Given the description of an element on the screen output the (x, y) to click on. 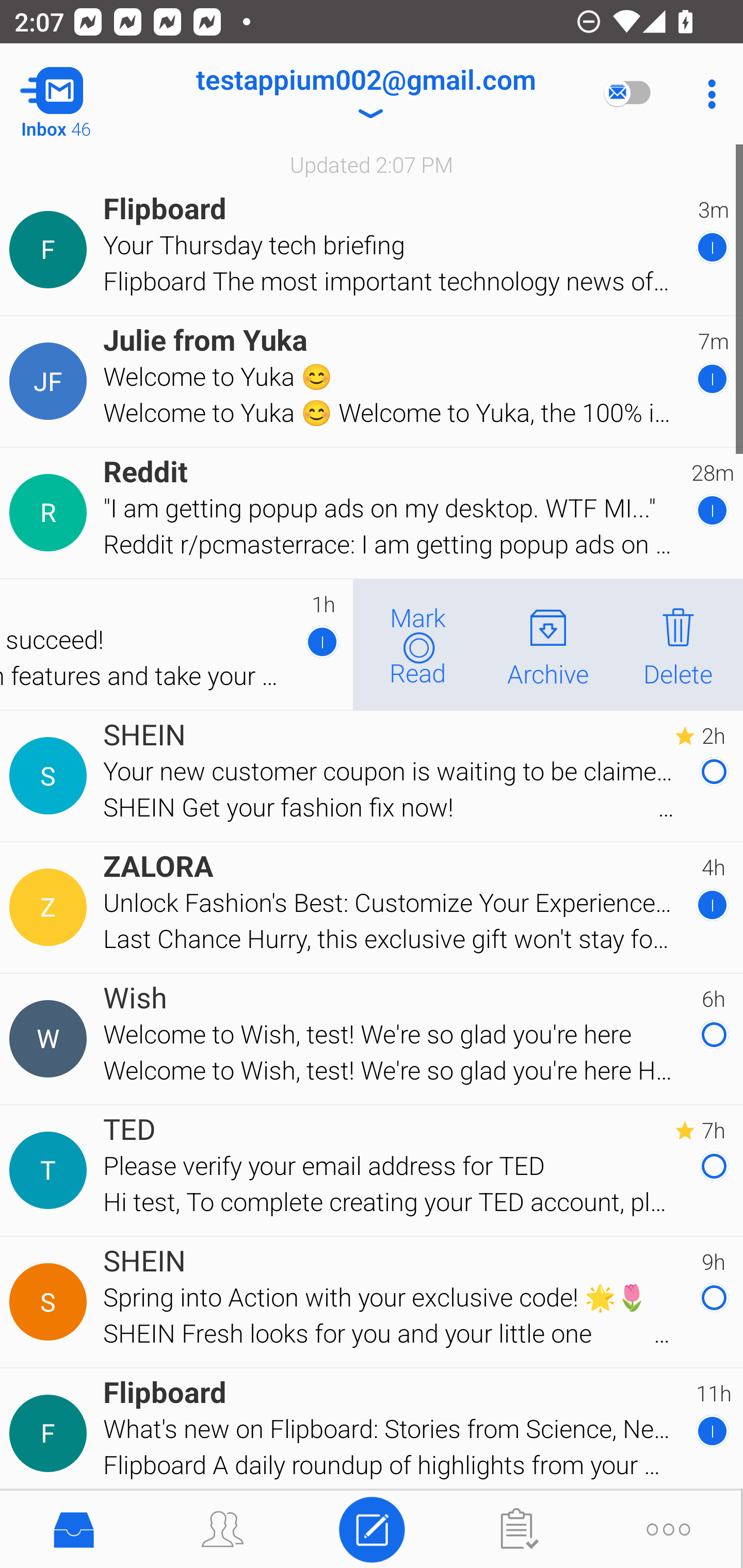
Navigate up (81, 93)
testappium002@gmail.com (365, 93)
More Options (706, 93)
Updated 2:07 PM (371, 164)
Contact Details (50, 250)
Contact Details (50, 381)
Contact Details (50, 513)
Mark Read (417, 644)
Archive (547, 644)
Delete (677, 644)
Contact Details (50, 776)
Contact Details (50, 907)
Contact Details (50, 1038)
Contact Details (50, 1170)
Contact Details (50, 1302)
Contact Details (50, 1433)
